Given the description of an element on the screen output the (x, y) to click on. 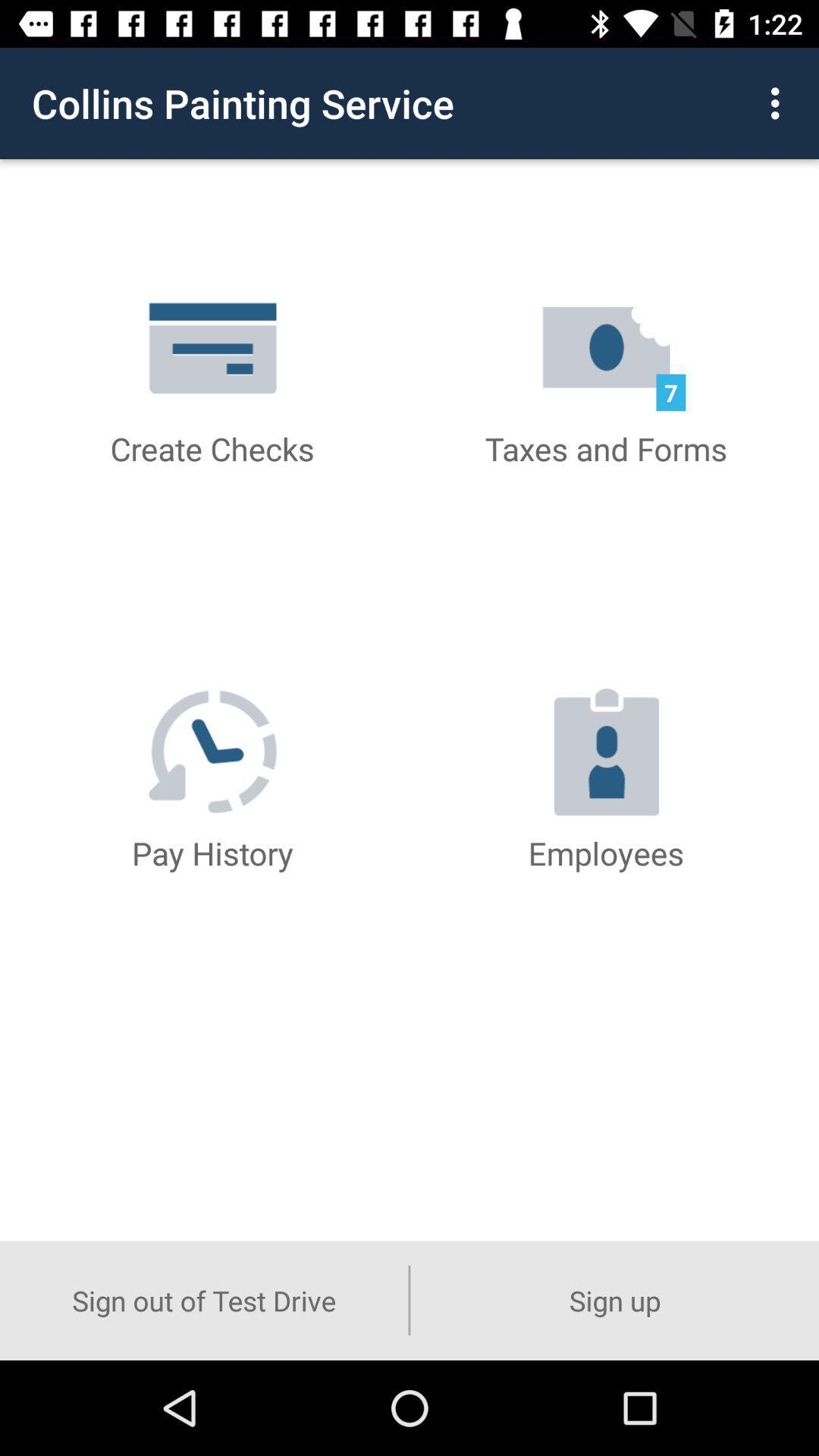
turn on item to the right of collins painting service item (779, 103)
